Given the description of an element on the screen output the (x, y) to click on. 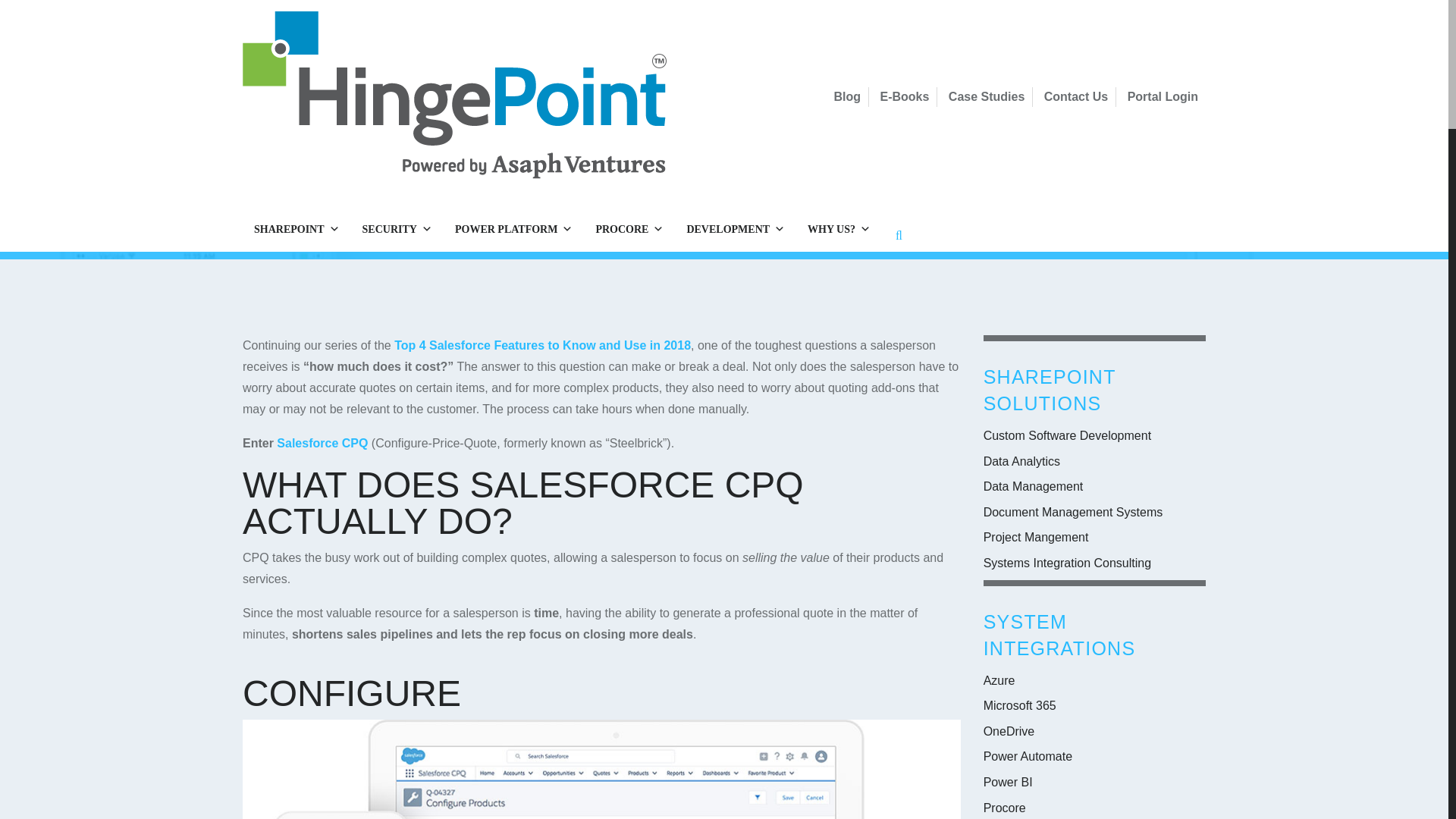
Microsoft Power Platform Development (513, 229)
HingePoint (456, 95)
